Given the description of an element on the screen output the (x, y) to click on. 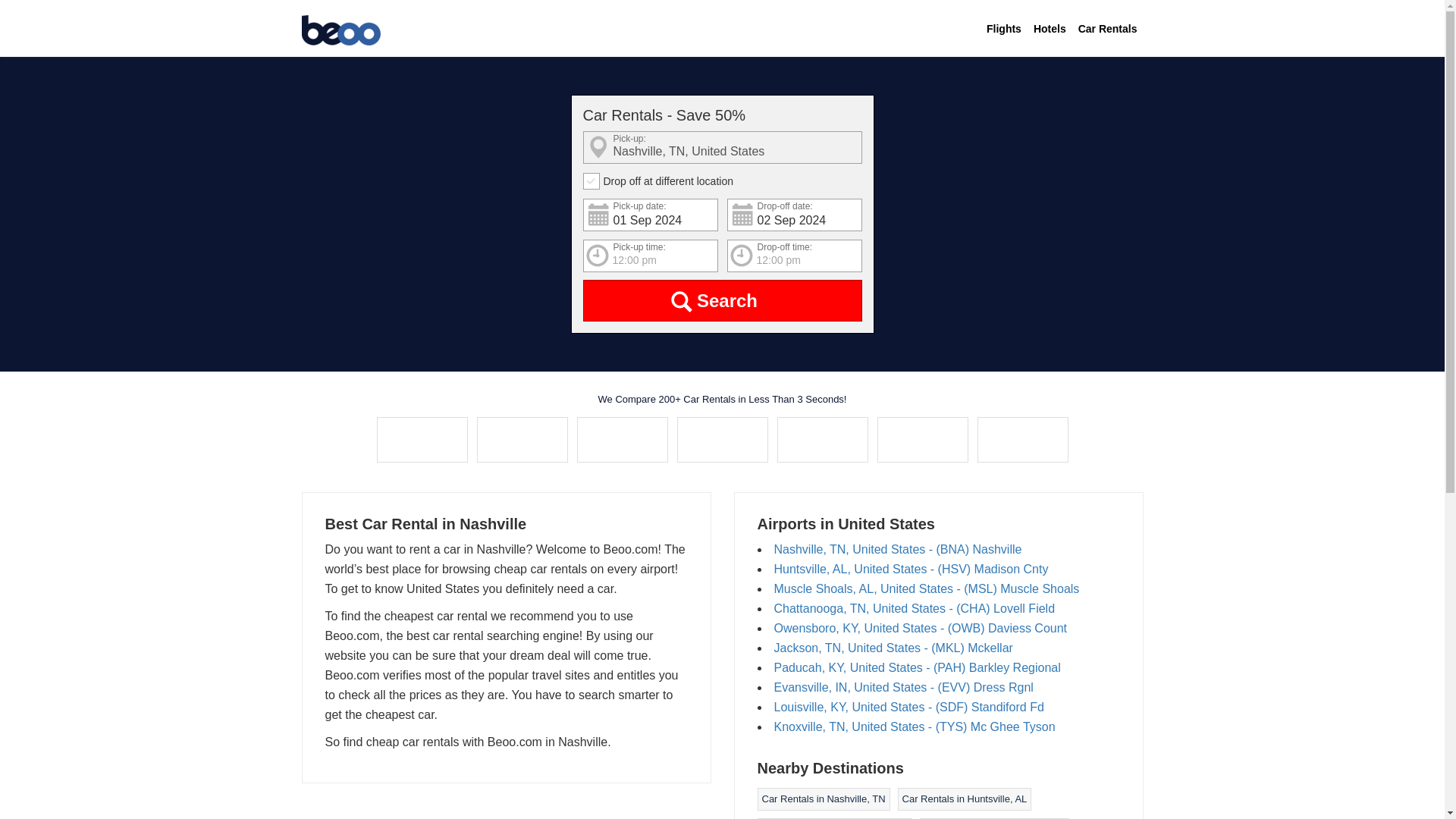
Flights (1003, 28)
Search (721, 300)
Car Rentals (1106, 28)
Nashville, TN, United States (721, 147)
Hotels (1049, 28)
Car Rentals in Nashville, TN (823, 798)
Car Rentals in Huntsville, AL (964, 798)
